Given the description of an element on the screen output the (x, y) to click on. 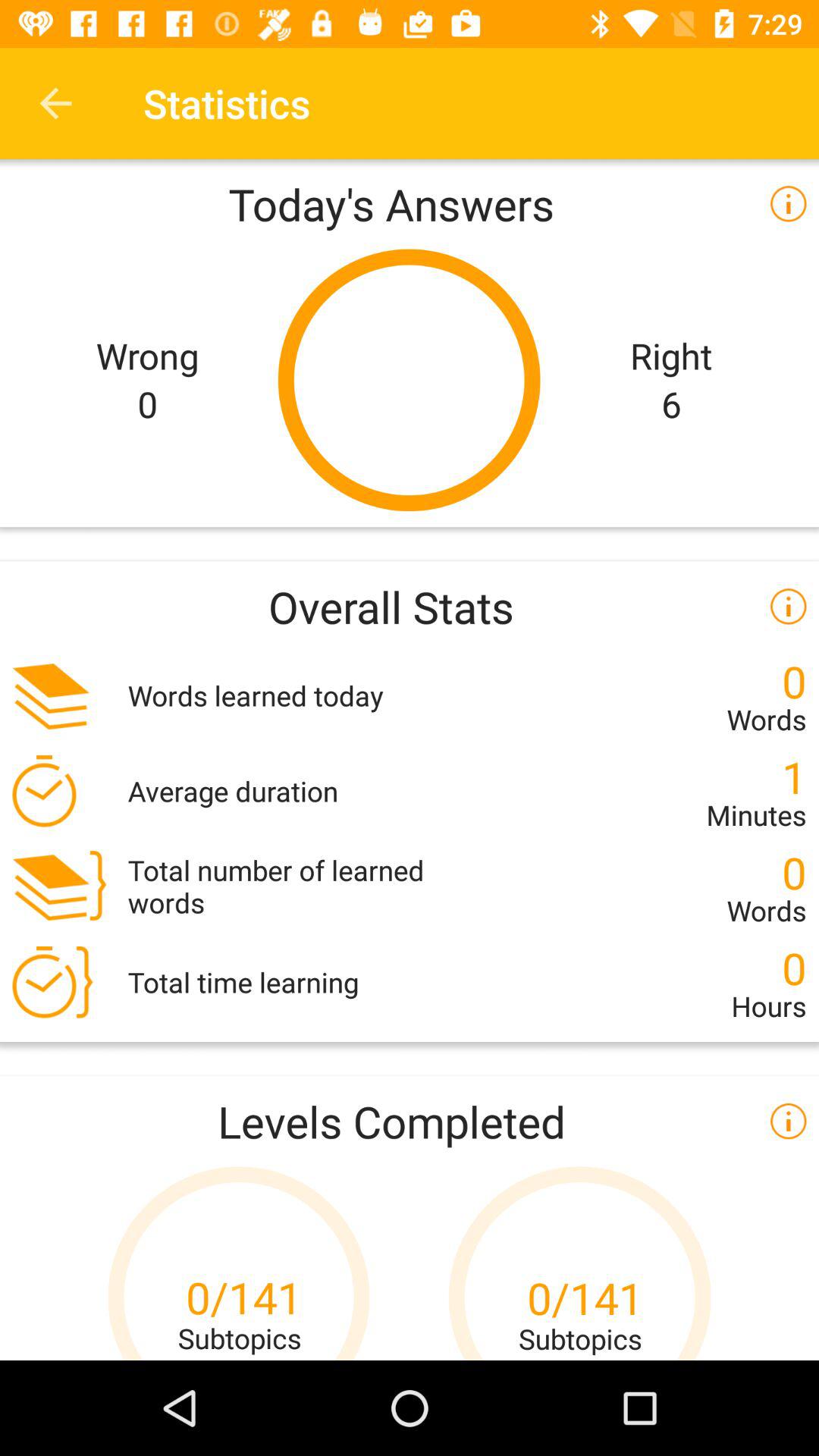
turn off the icon above words learned today icon (409, 606)
